Given the description of an element on the screen output the (x, y) to click on. 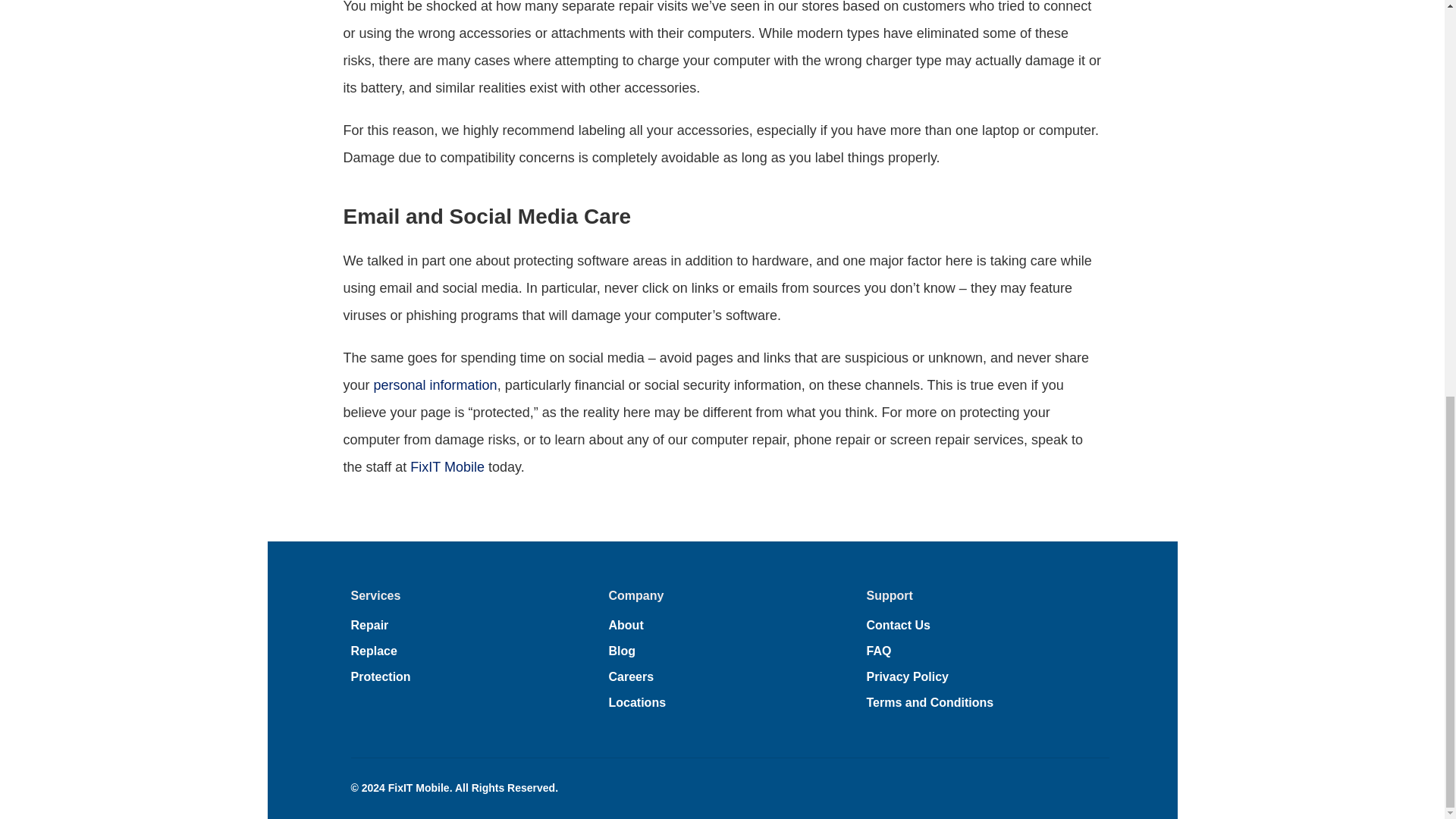
Privacy Policy (907, 676)
Contact Us (898, 625)
About (625, 625)
FixIT Mobile (447, 467)
Careers (630, 676)
Terms and Conditions (929, 702)
Blog (621, 650)
Replace (373, 650)
Protection (380, 676)
Locations (636, 702)
